Given the description of an element on the screen output the (x, y) to click on. 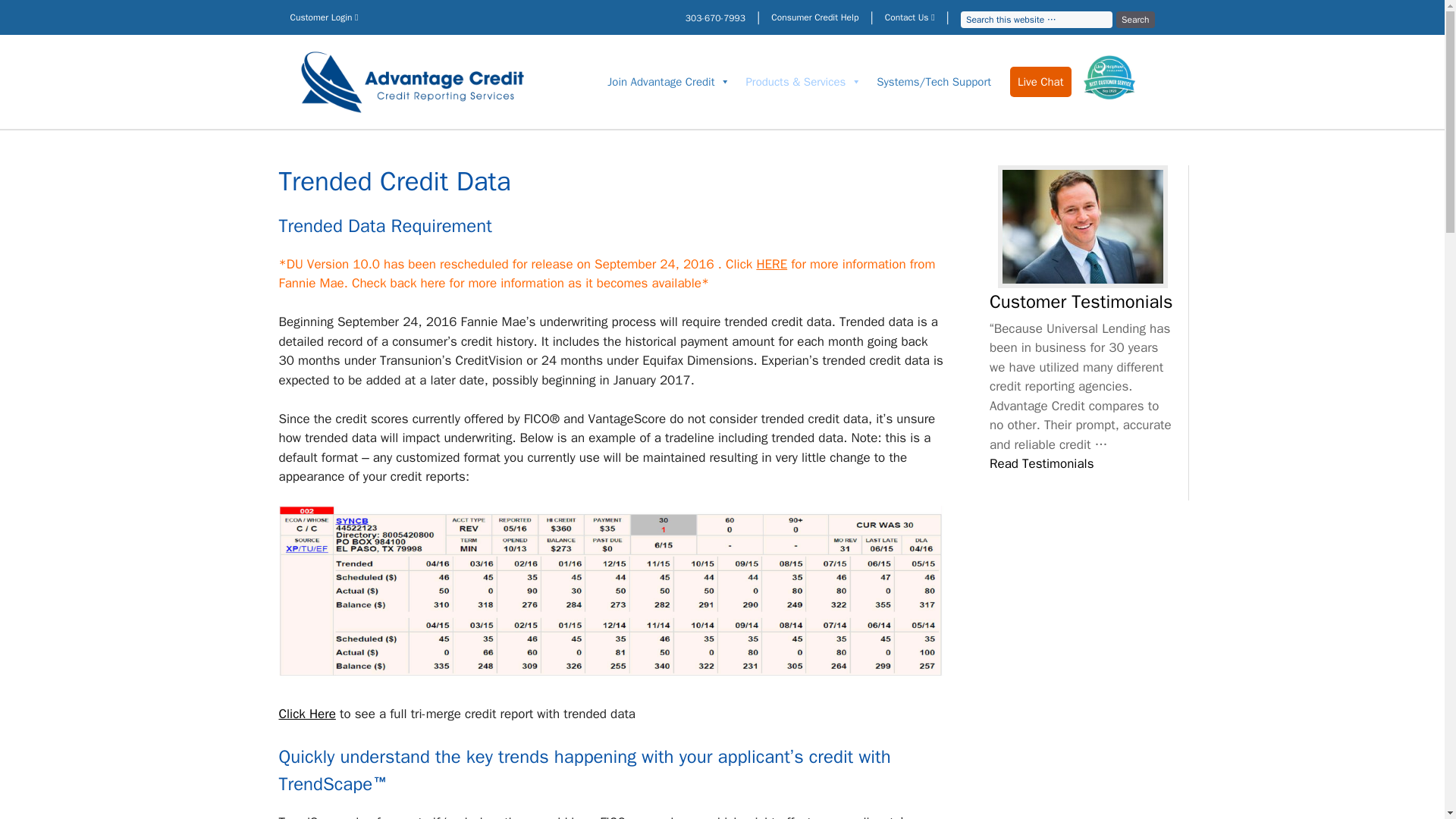
303-670-7993 (715, 18)
testimonials (1083, 226)
Consumer Credit Help (815, 17)
Join Advantage Credit (668, 81)
Search (1135, 19)
Search (1135, 19)
Search (1135, 19)
